Given the description of an element on the screen output the (x, y) to click on. 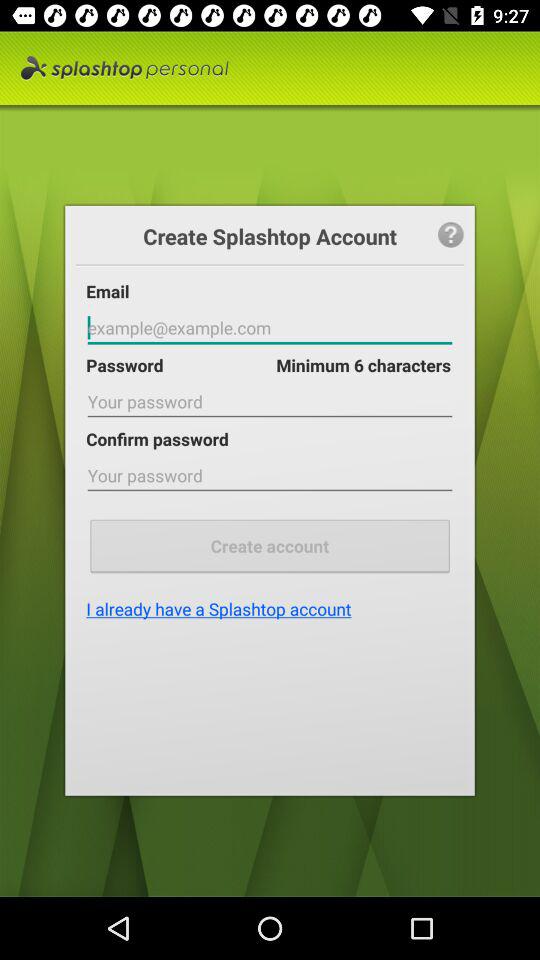
password (269, 328)
